Given the description of an element on the screen output the (x, y) to click on. 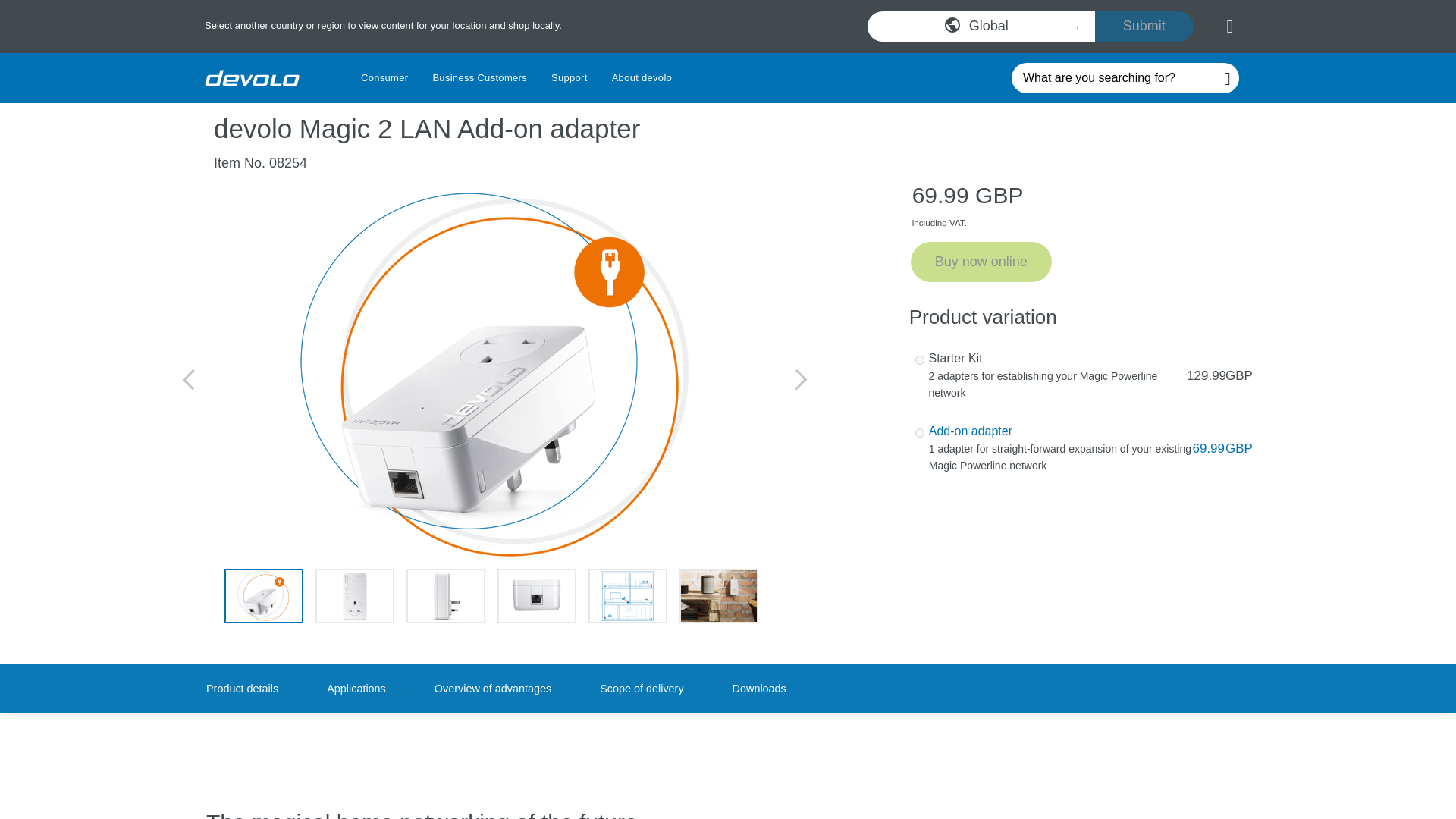
devolo Magic 2 LAN (263, 595)
Title (355, 687)
devolo Magic 2 LAN (354, 595)
Title (492, 687)
devolo Magic 2 LAN (627, 595)
Title (242, 687)
devolo Magic 2 LAN (727, 78)
devolo (718, 595)
Global (252, 77)
devolo Magic 2 LAN (981, 25)
devolo Magic 2 LAN (536, 595)
Submit (445, 595)
